Given the description of an element on the screen output the (x, y) to click on. 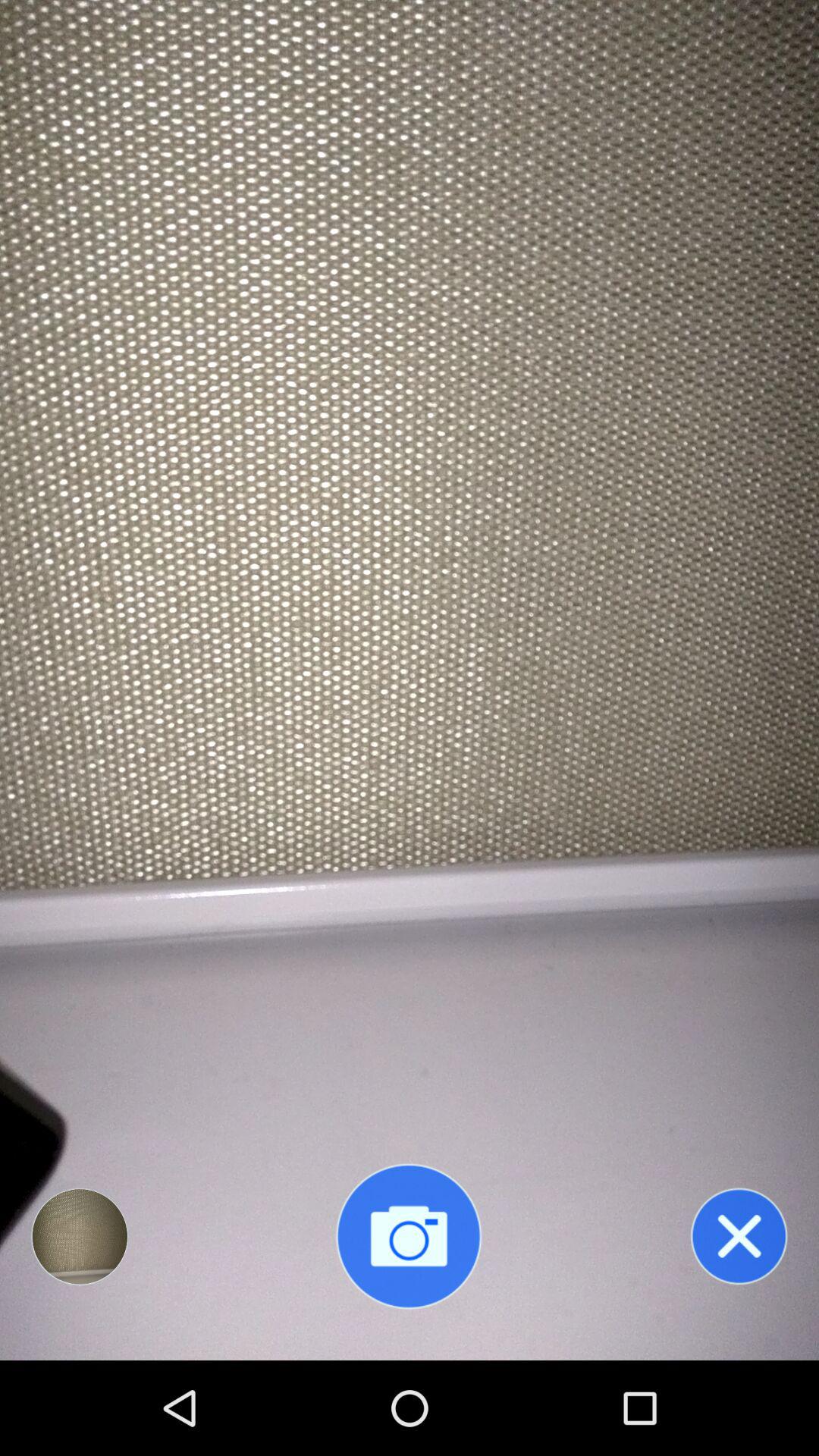
the button is used to closed delete option (738, 1236)
